Given the description of an element on the screen output the (x, y) to click on. 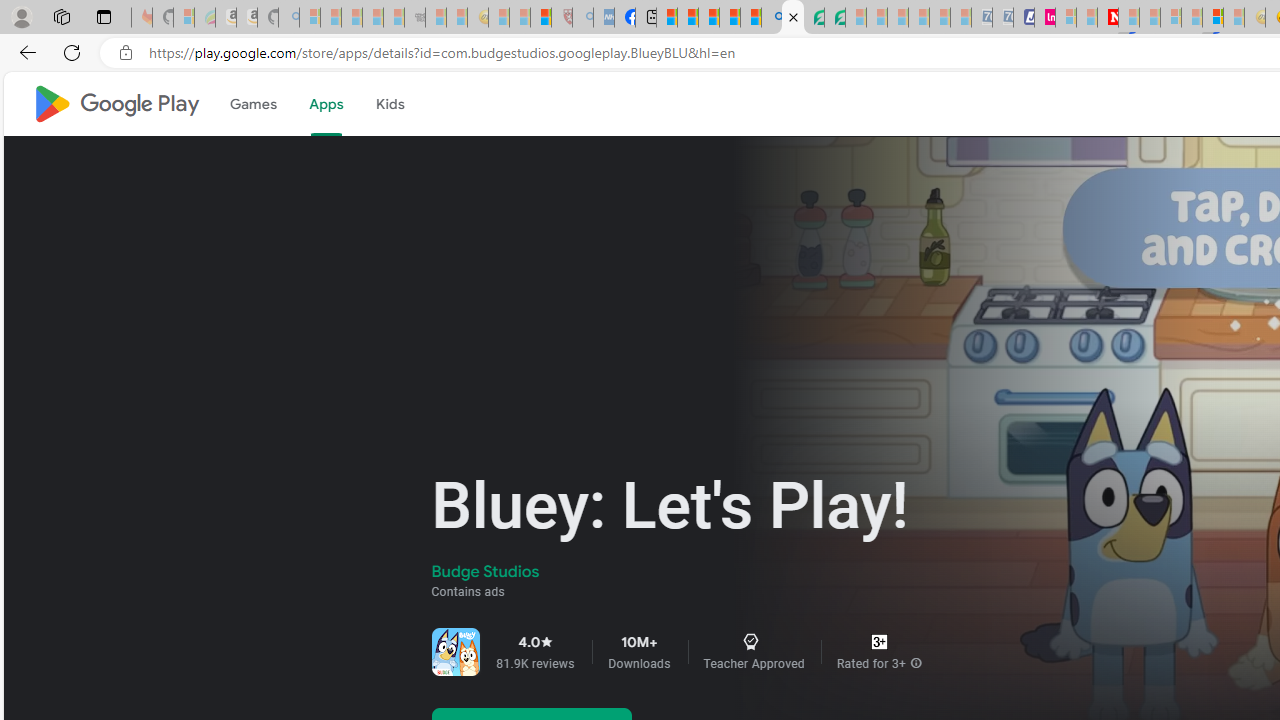
Google Play logo (115, 104)
Trusted Community Engagement and Contributions | Guidelines (1128, 17)
Microsoft Start - Sleeping (1086, 17)
Content rating (879, 642)
Robert H. Shmerling, MD - Harvard Health - Sleeping (561, 17)
Combat Siege (414, 17)
Recipes - MSN - Sleeping (499, 17)
